Given the description of an element on the screen output the (x, y) to click on. 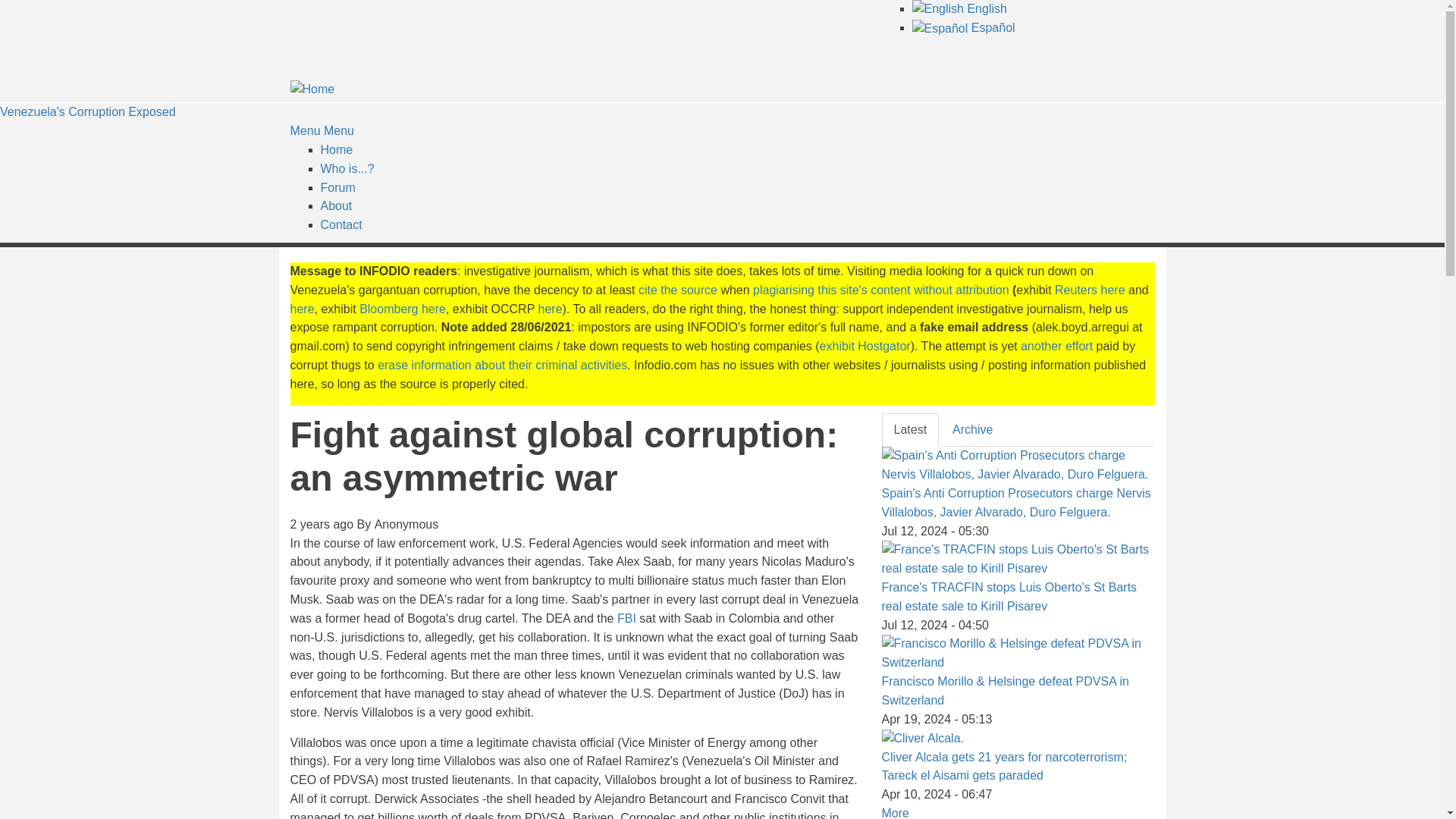
cite the source (678, 289)
Reuters here (1089, 289)
Forum (337, 187)
Cliver Alcala. (921, 738)
Archive (972, 430)
Venezuela's Corruption Exposed (88, 111)
Menu (304, 130)
Home (336, 149)
here (550, 308)
